Given the description of an element on the screen output the (x, y) to click on. 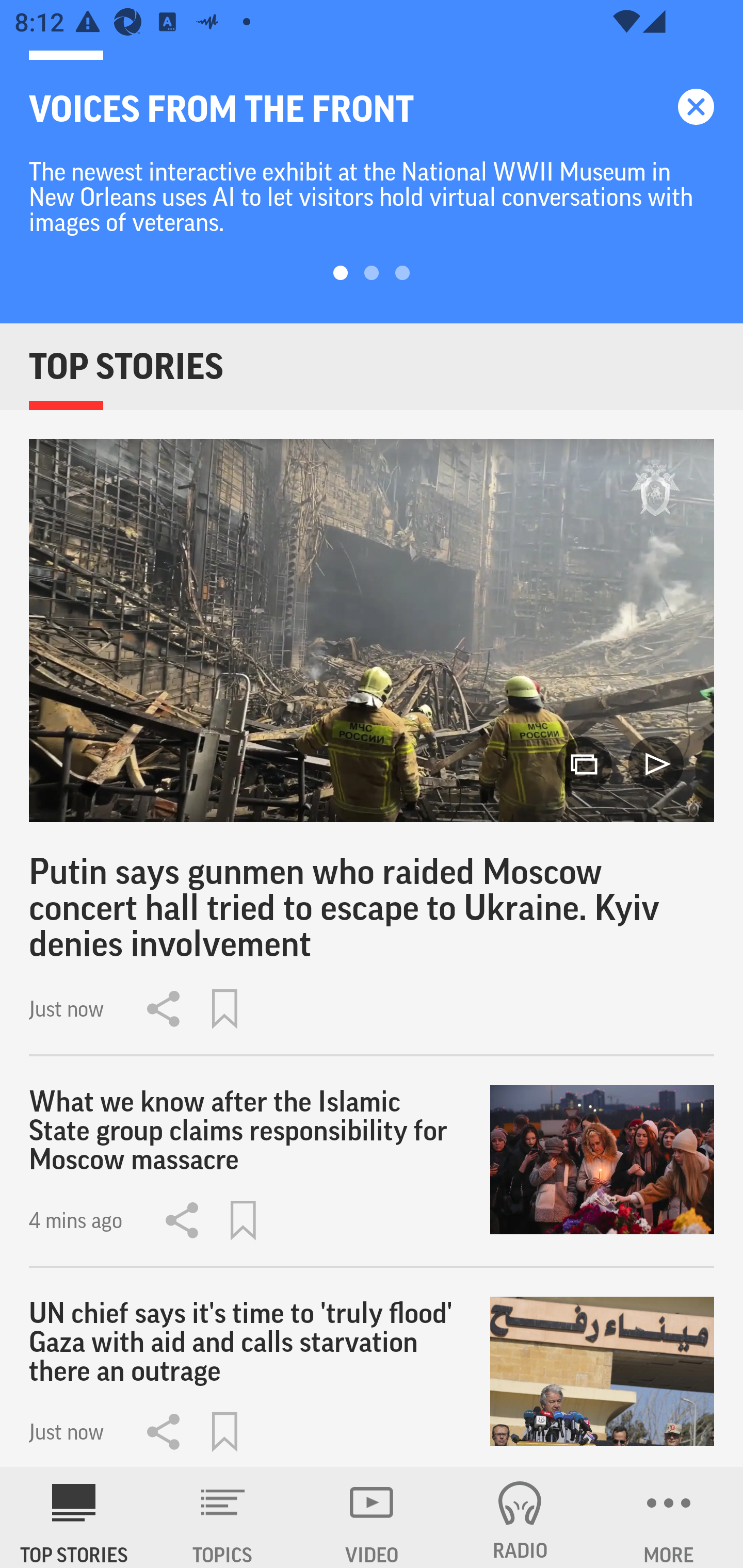
AP News TOP STORIES (74, 1517)
TOPICS (222, 1517)
VIDEO (371, 1517)
RADIO (519, 1517)
MORE (668, 1517)
